Given the description of an element on the screen output the (x, y) to click on. 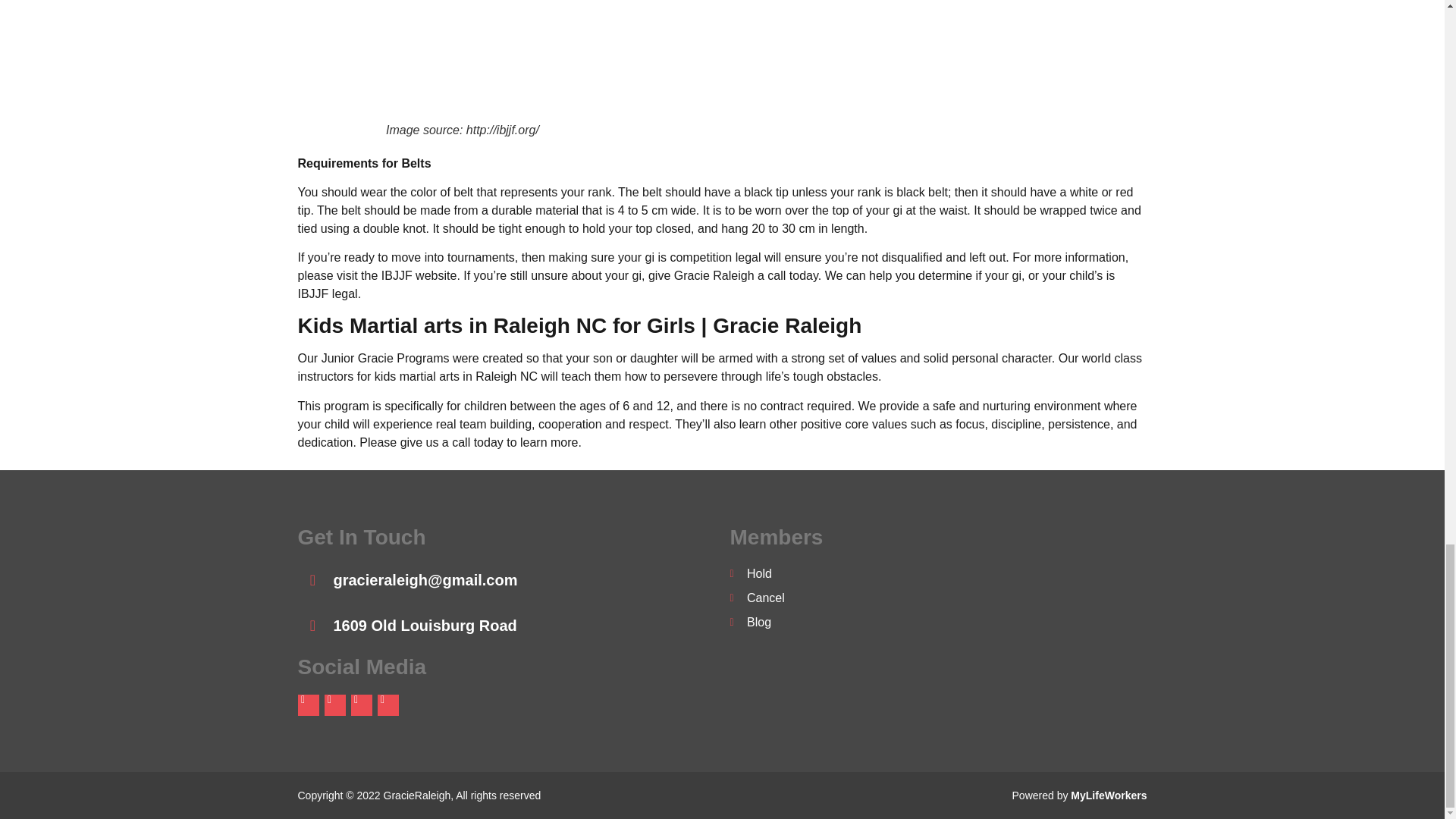
call today (477, 441)
Junior Gracie Programs (385, 358)
please visit the IBJJF website (377, 275)
